Given the description of an element on the screen output the (x, y) to click on. 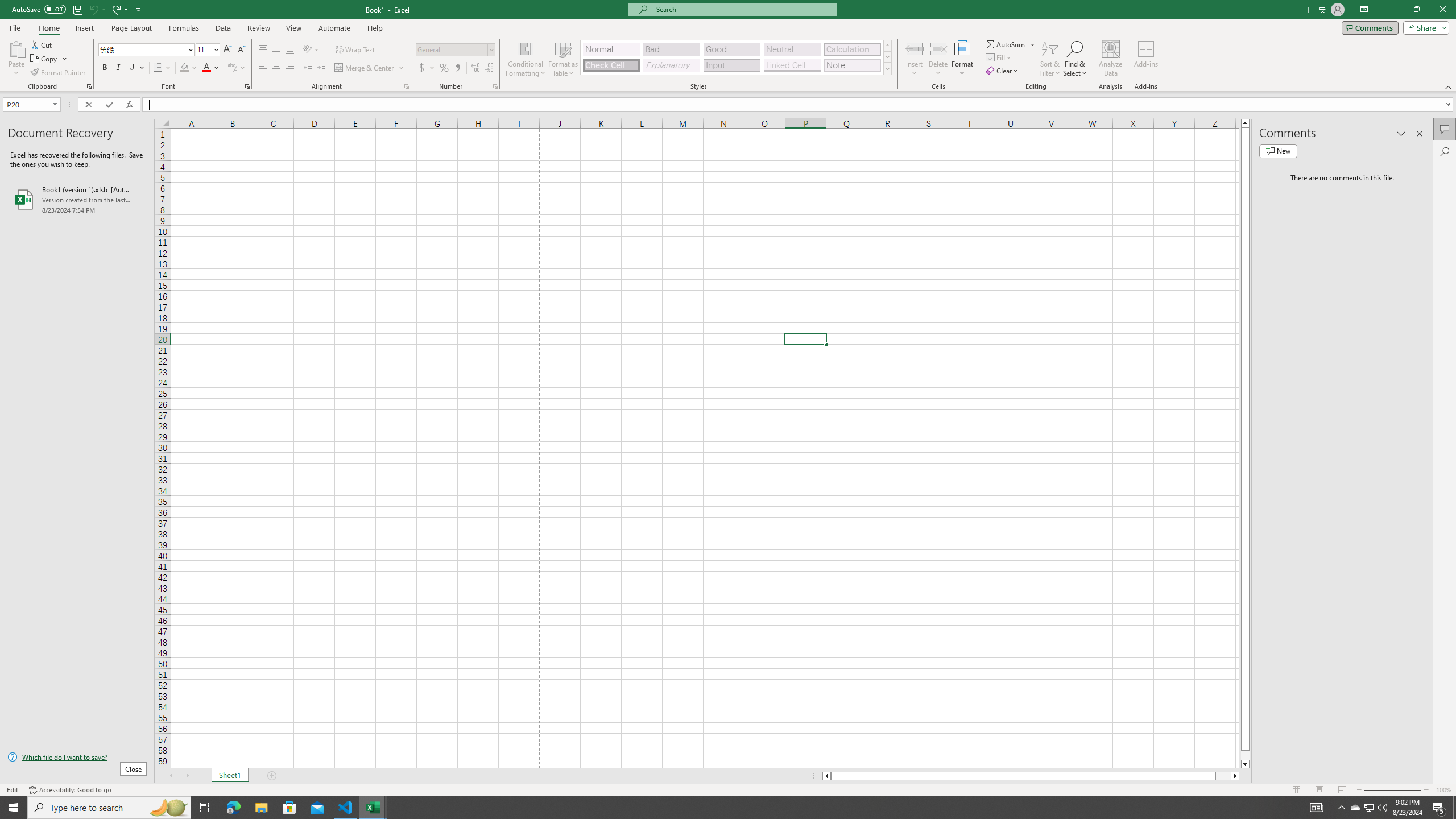
Font Color (210, 67)
Open (54, 104)
Minimize (1390, 9)
Neutral (791, 49)
Align Right (290, 67)
Page down (1245, 755)
Accounting Number Format (426, 67)
Which file do I want to save? (77, 757)
Sheet1 (229, 775)
Format (962, 58)
Zoom Out (1377, 790)
Format Painter (58, 72)
Column right (1235, 775)
